Given the description of an element on the screen output the (x, y) to click on. 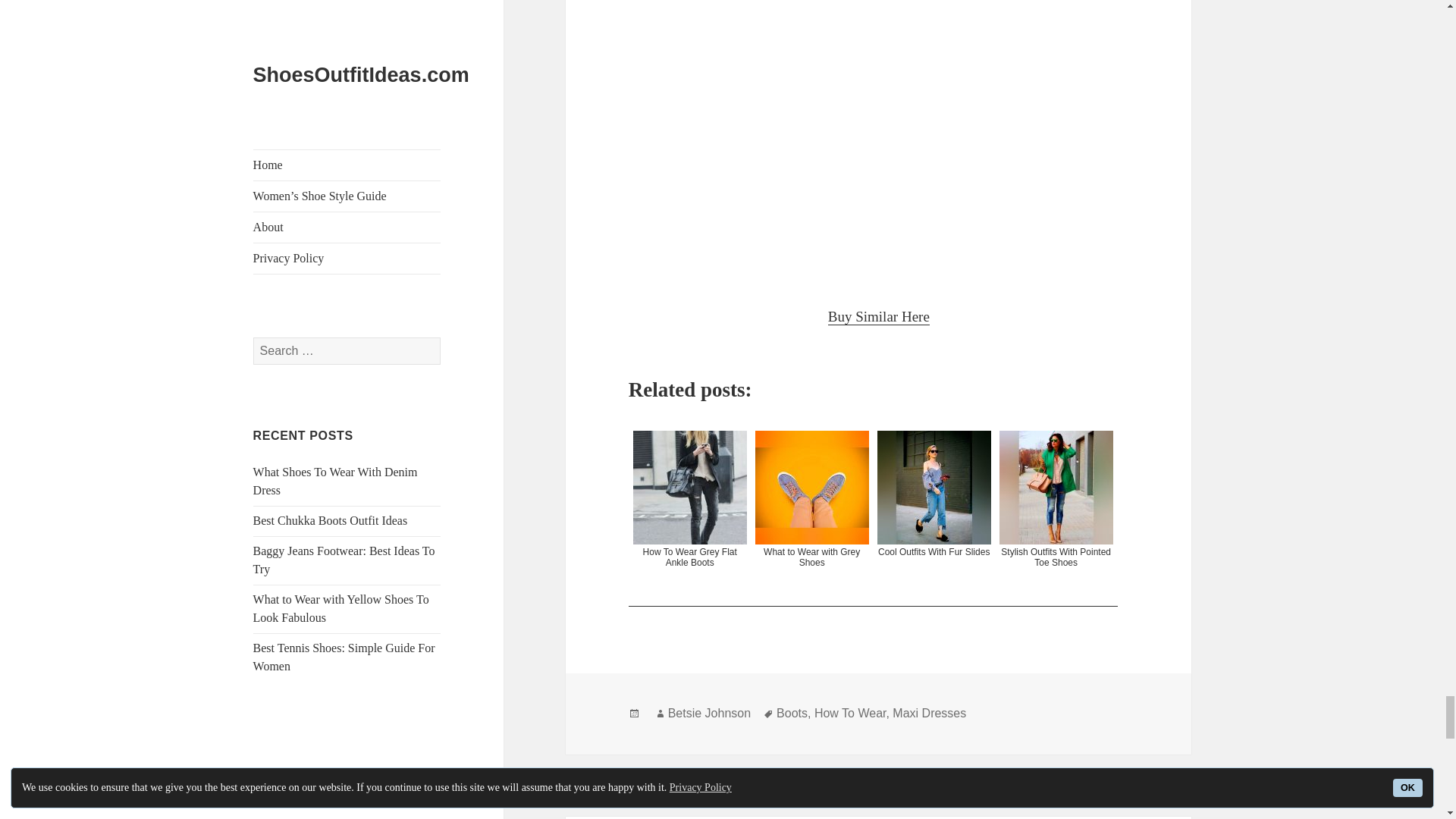
Betsie Johnson (709, 713)
Buy Similar Here (879, 316)
Can I Wear Boots With A Maxi Dress: Easy Guide 2023 (879, 140)
